Given the description of an element on the screen output the (x, y) to click on. 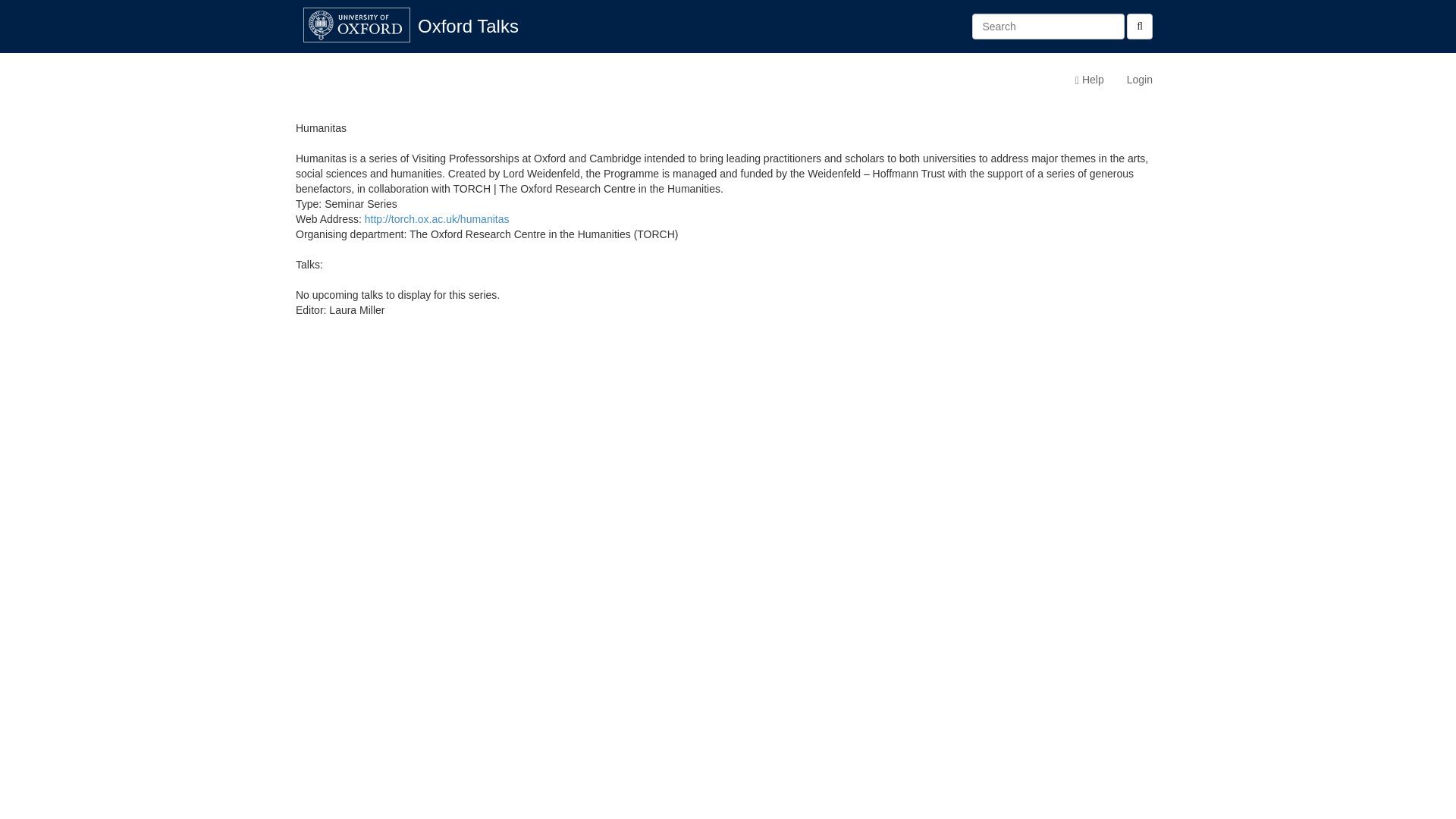
Help (1089, 79)
Oxford Talks (467, 26)
Login (1139, 79)
